Given the description of an element on the screen output the (x, y) to click on. 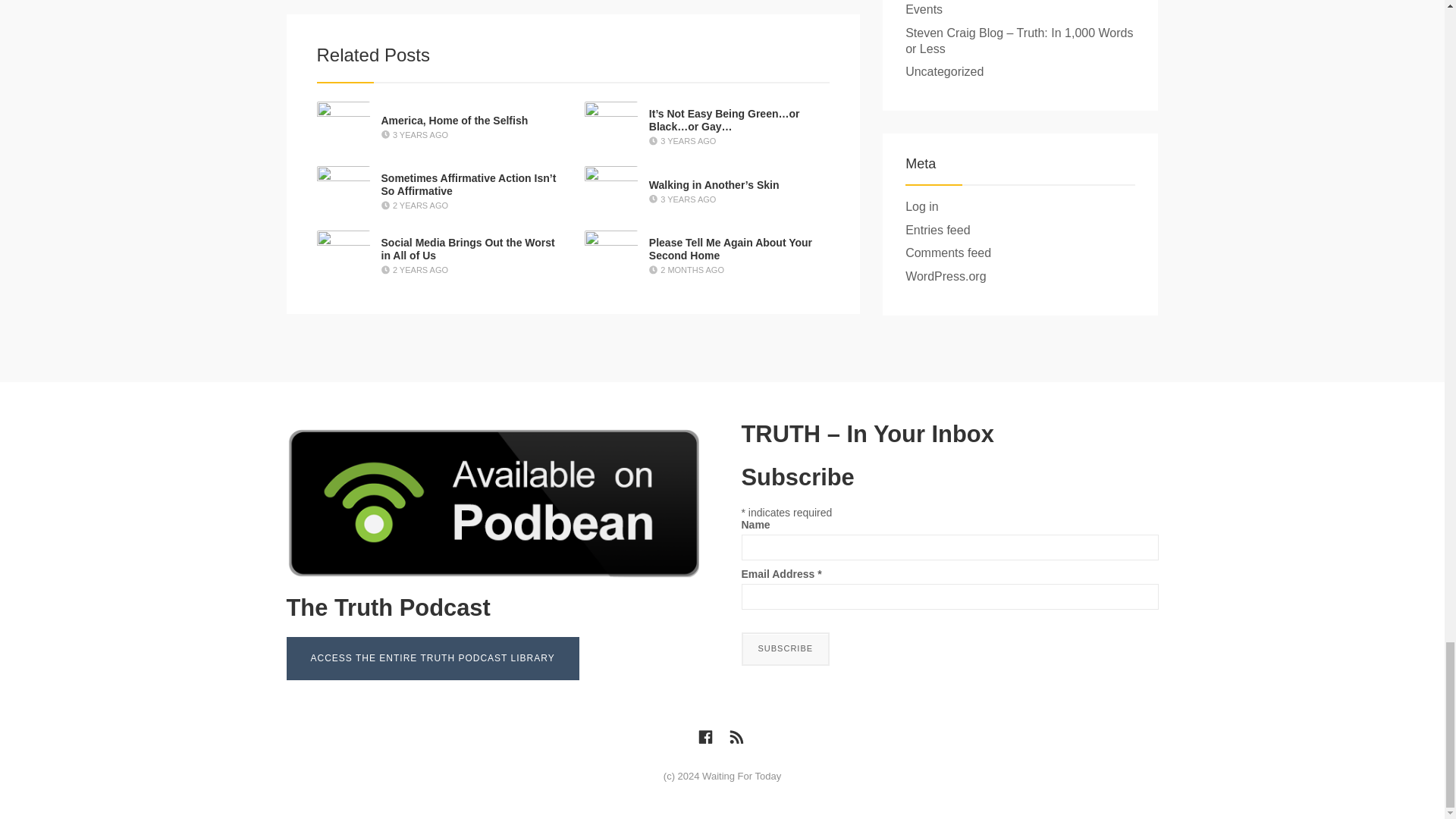
America, Home of the Selfish (453, 120)
Subscribe (785, 648)
Social Media Brings Out the Worst in All of Us (467, 249)
Social Media Brings Out the Worst in All of Us (467, 249)
America, Home of the Selfish (453, 120)
Please Tell Me Again About Your Second Home (730, 249)
